Given the description of an element on the screen output the (x, y) to click on. 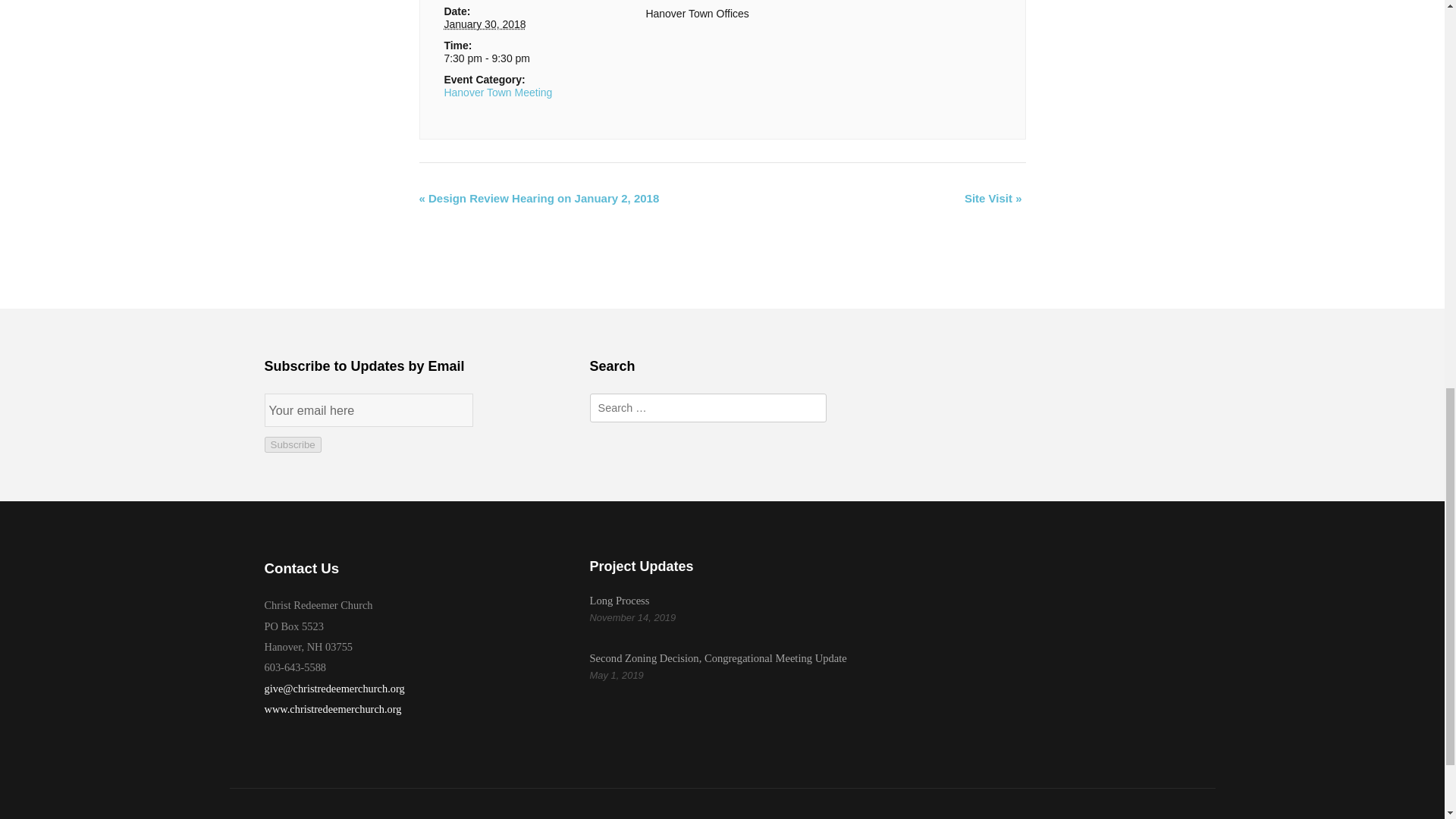
Long Process (619, 600)
2018-01-30 (484, 24)
Your email here (368, 409)
www.christredeemerchurch.org (332, 708)
Long Process (619, 600)
Subscribe (291, 444)
2018-01-30 (520, 58)
Your email here (368, 409)
Hanover Town Meeting (497, 92)
Second Zoning Decision, Congregational Meeting Update (718, 657)
Contact Us (301, 568)
Second Zoning Decision, Congregational Meeting Update (718, 657)
